Given the description of an element on the screen output the (x, y) to click on. 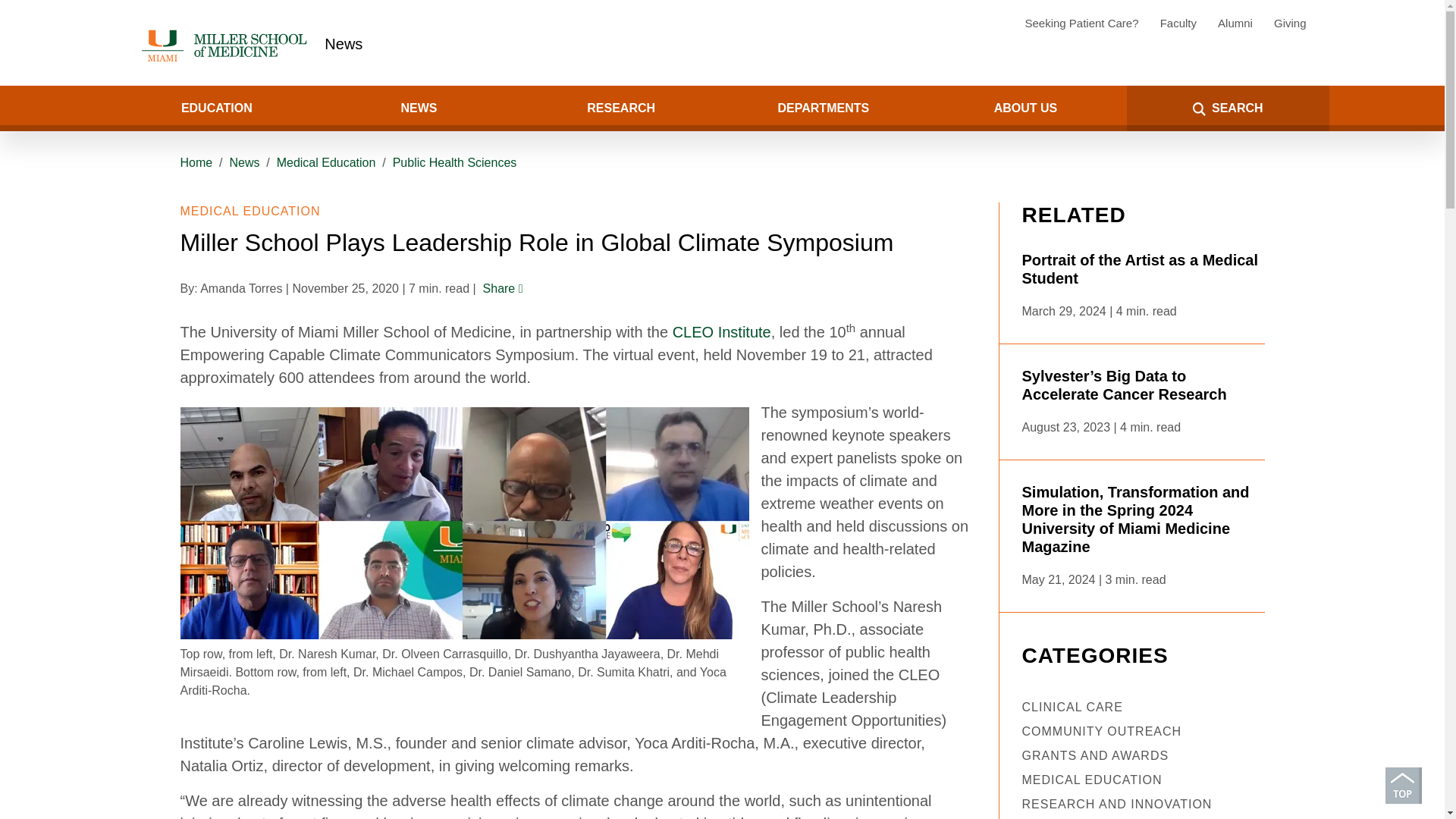
Search (57, 108)
EDUCATION (216, 108)
NEWS (418, 108)
News (343, 44)
RESEARCH (620, 108)
Miller School of Medicine (227, 45)
